Given the description of an element on the screen output the (x, y) to click on. 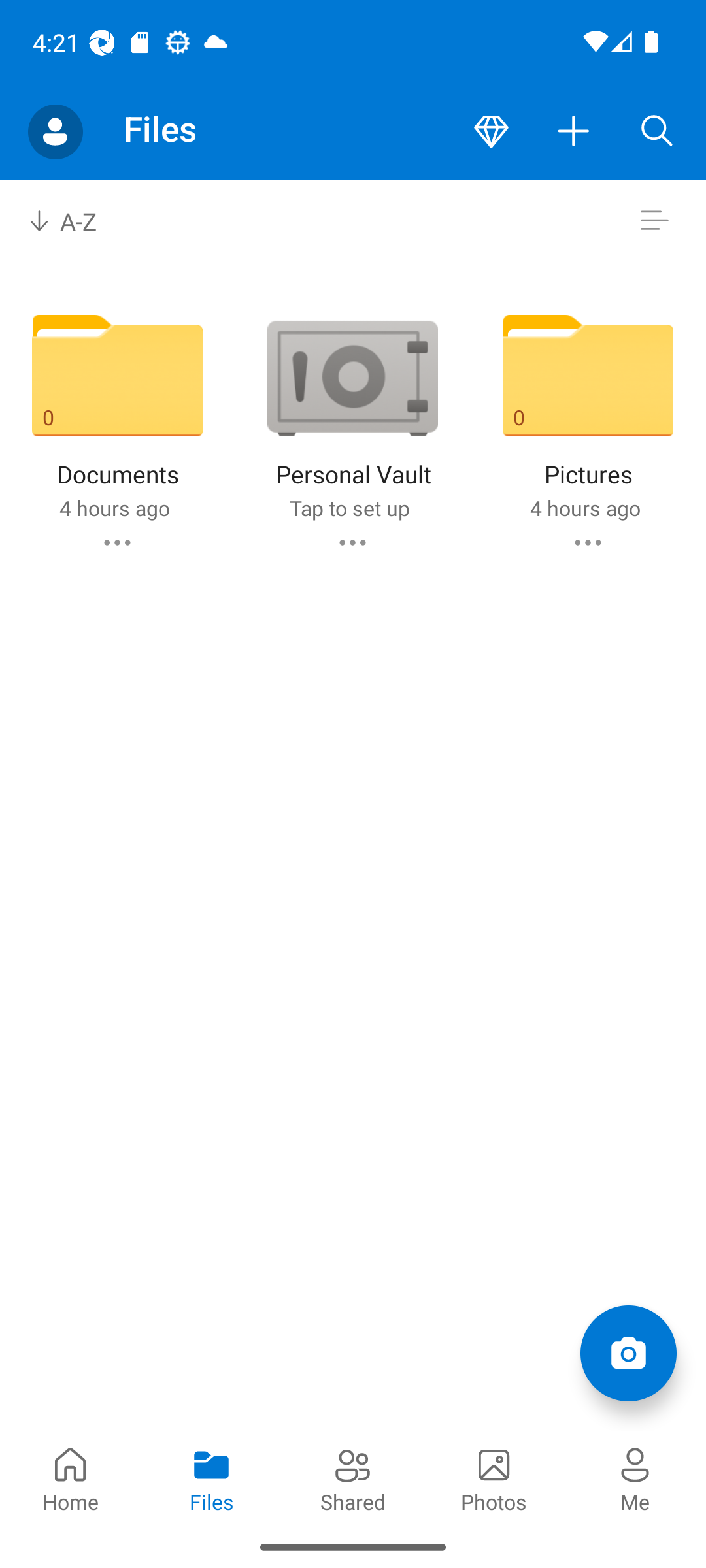
Account switcher (55, 131)
Premium button (491, 131)
More actions button (574, 131)
Search button (656, 131)
A-Z Sort by combo box, sort by name, A to Z (76, 220)
Switch to list view (654, 220)
4 hours ago (113, 507)
Tap to set up (348, 507)
4 hours ago (584, 507)
Documents commands (116, 542)
Personal Vault commands (352, 542)
Pictures commands (587, 542)
Add items Scan (628, 1352)
Home pivot Home (70, 1478)
Shared pivot Shared (352, 1478)
Photos pivot Photos (493, 1478)
Me pivot Me (635, 1478)
